Given the description of an element on the screen output the (x, y) to click on. 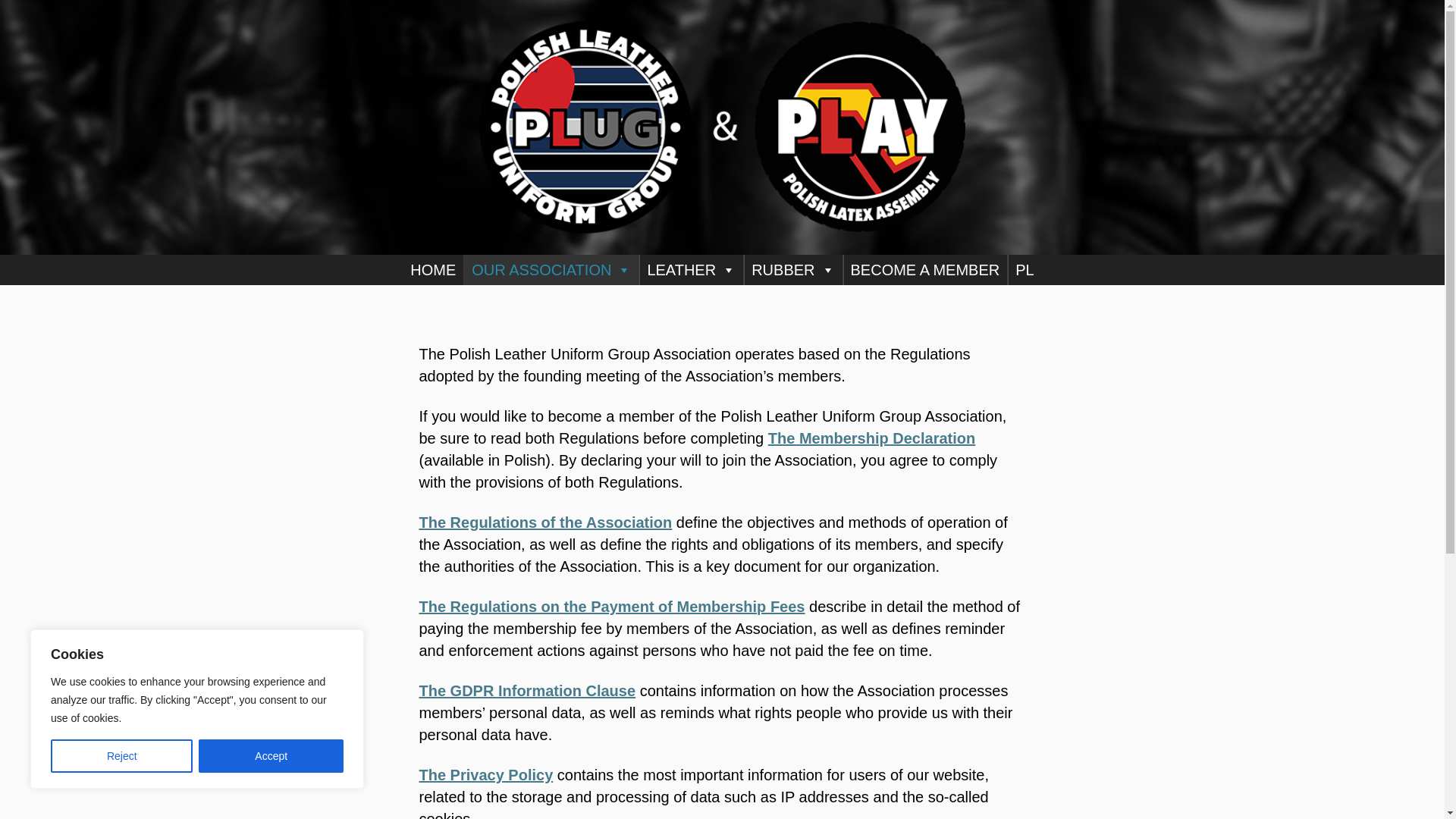
Regulamin Stowarzyszenia (545, 522)
The Regulations of the Association (545, 522)
The Regulations on the Payment of Membership Fees (612, 606)
PL (1024, 269)
OUR ASSOCIATION (551, 269)
The GDPR Information Clause (526, 690)
LEATHER (690, 269)
Accept (270, 756)
Become a member (871, 437)
RUBBER (792, 269)
